Given the description of an element on the screen output the (x, y) to click on. 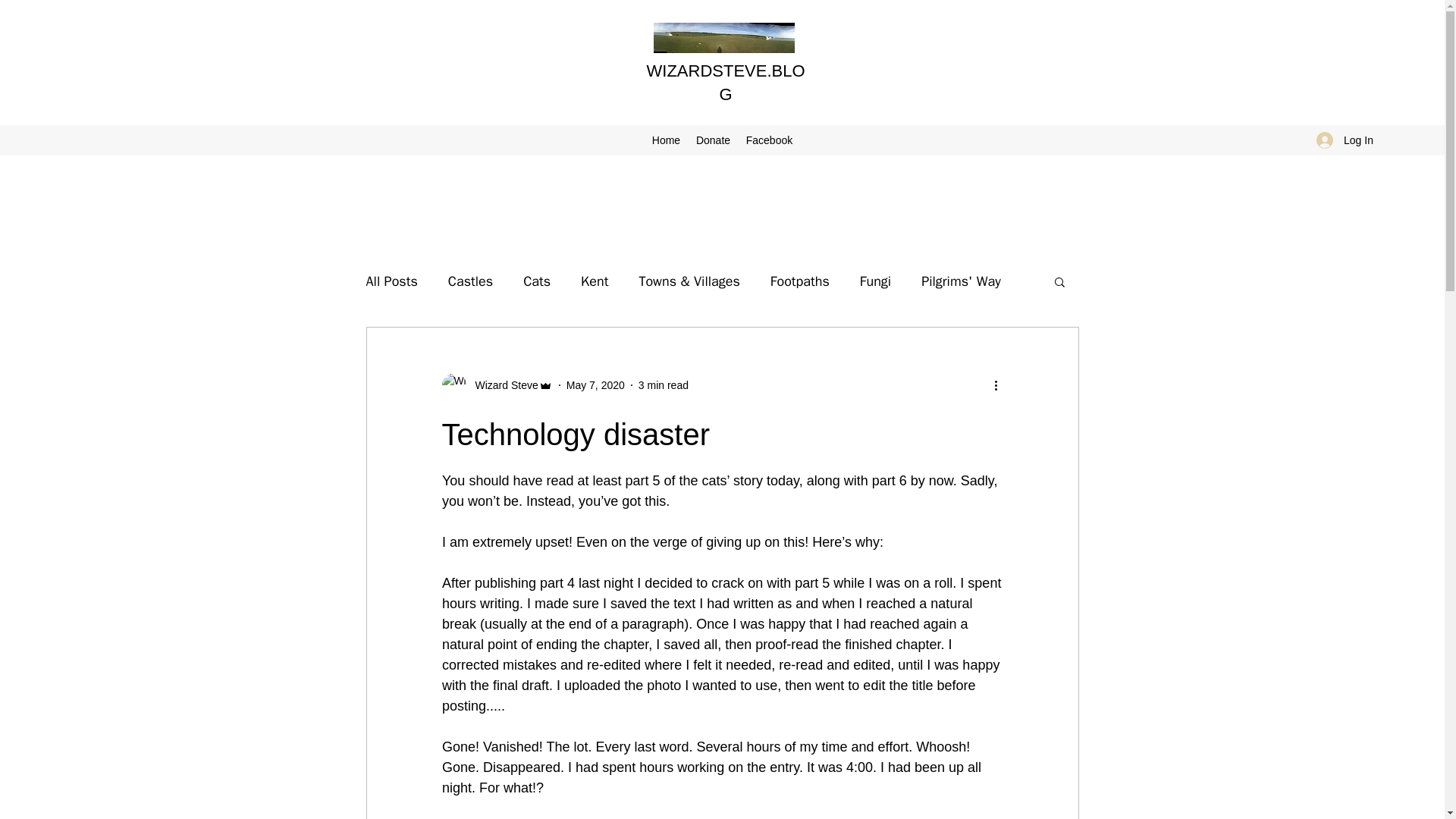
Wizard Steve (496, 385)
Pilgrims' Way (961, 280)
Wizard Steve (501, 385)
May 7, 2020 (595, 385)
All Posts (390, 280)
Facebook (768, 139)
Home (665, 139)
WIZARDSTEVE.BLOG (725, 82)
Donate (712, 139)
Cats (536, 280)
3 min read (663, 385)
Log In (1345, 139)
Kent (594, 280)
Castles (470, 280)
Fungi (875, 280)
